Given the description of an element on the screen output the (x, y) to click on. 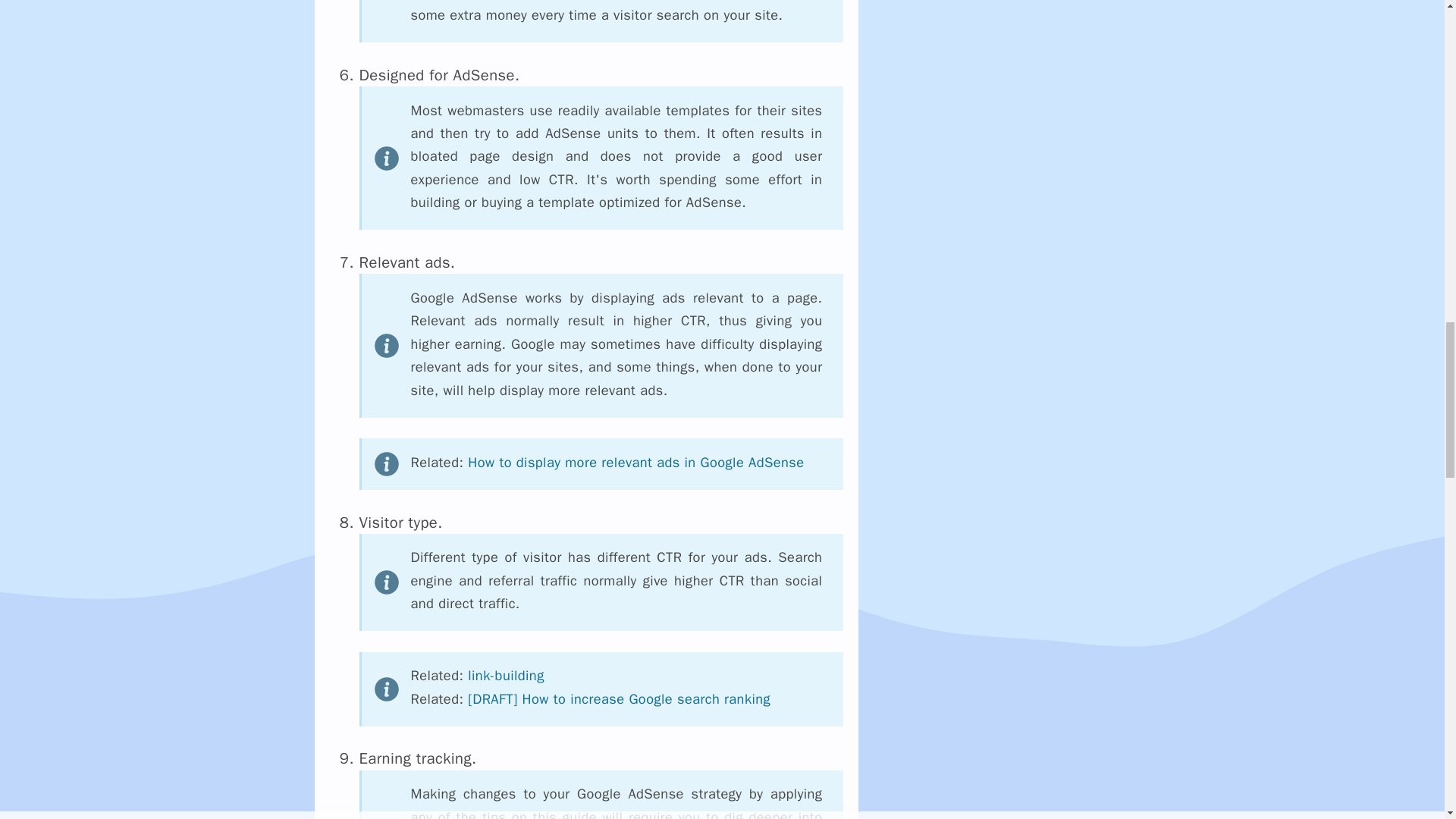
webmaster:increase-rank (618, 698)
google-adsense:get-relevant-ad (635, 461)
webmaster:link-building (505, 674)
